Given the description of an element on the screen output the (x, y) to click on. 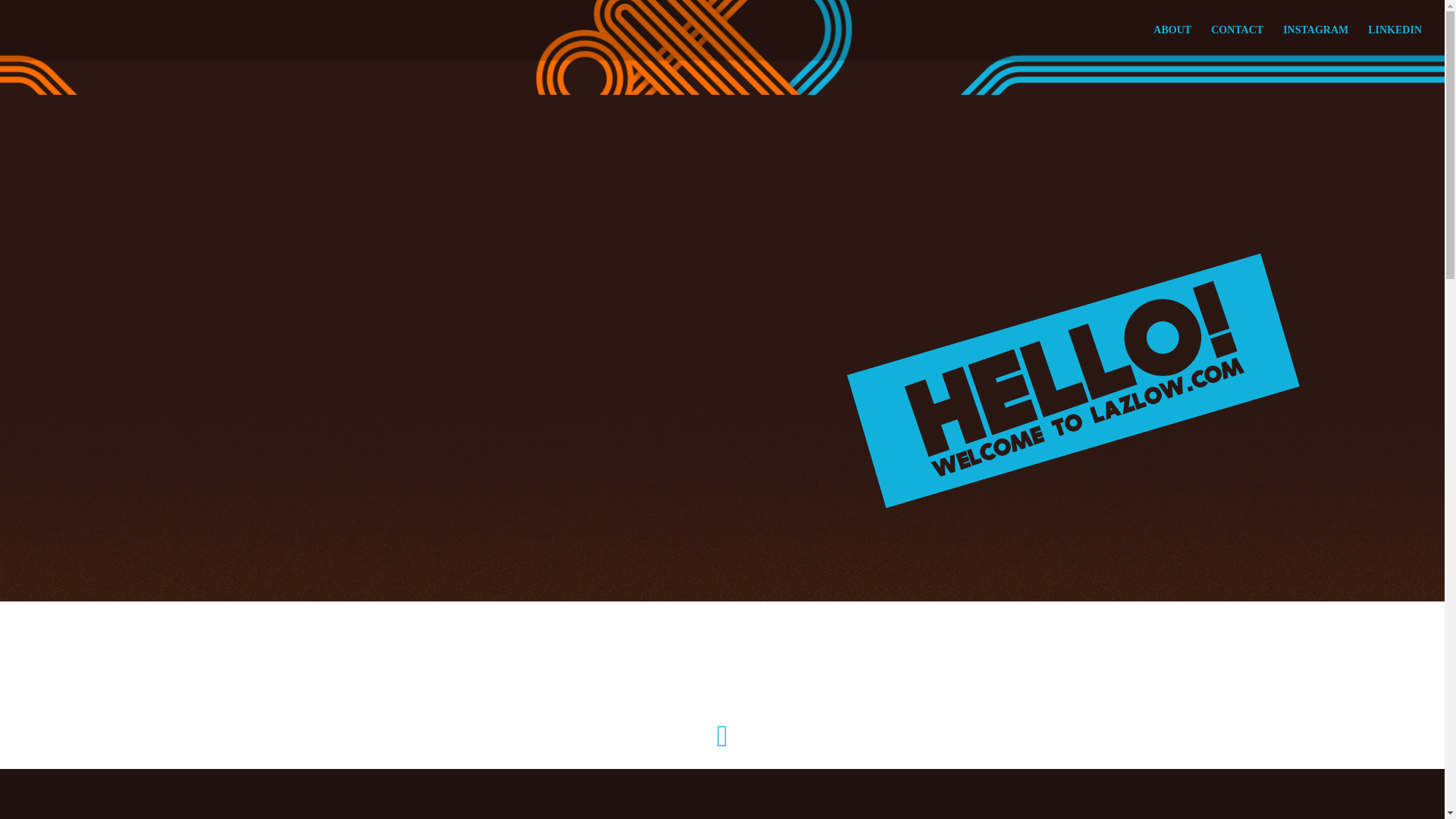
CONTACT (1237, 42)
LINKEDIN (1395, 42)
INSTAGRAM (1315, 42)
ABOUT (1172, 42)
